Given the description of an element on the screen output the (x, y) to click on. 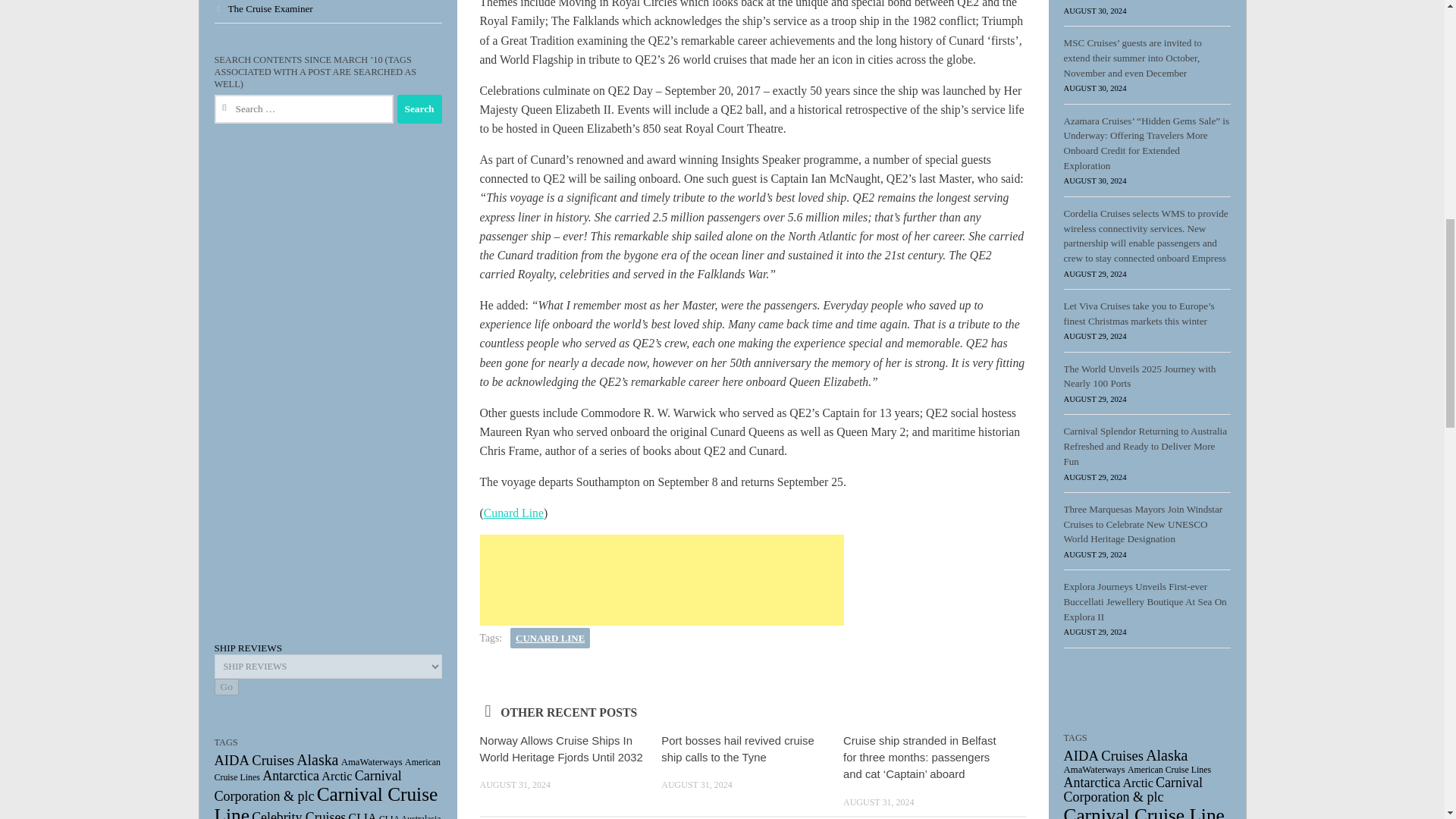
CUNARD LINE (550, 638)
Cunard Line (513, 512)
Port bosses hail revived cruise ship calls to the Tyne (737, 748)
Go (226, 686)
Search (419, 109)
The Cruise Examiner (263, 8)
Search (419, 109)
Search (419, 109)
